Given the description of an element on the screen output the (x, y) to click on. 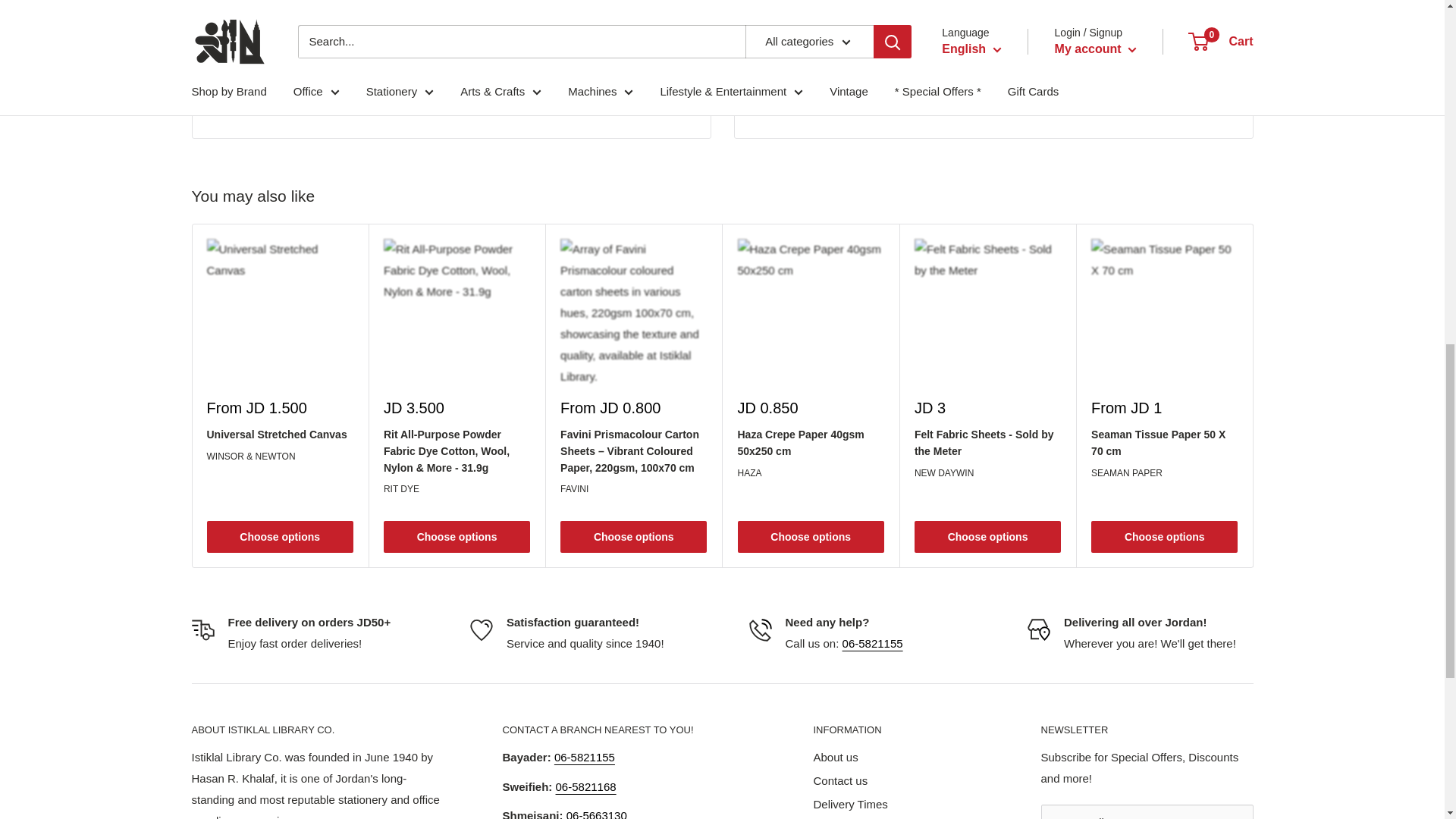
tel:065821155 (584, 757)
tel:065821155 (872, 643)
tel:065663130 (596, 814)
tel:065821168 (585, 786)
